Given the description of an element on the screen output the (x, y) to click on. 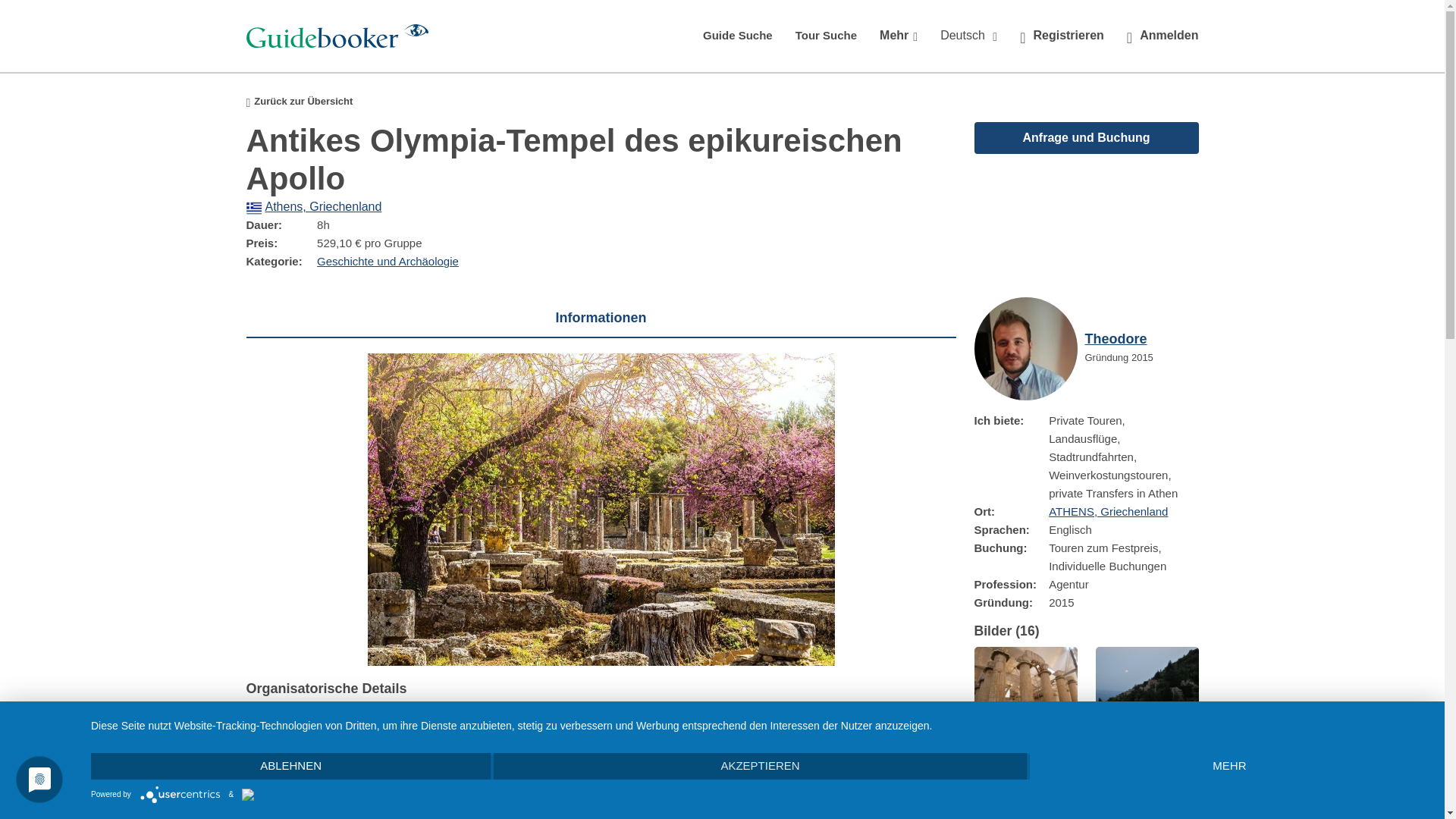
Anfrage und Buchung (1086, 137)
Deutsch (968, 35)
Informationen (600, 317)
Alle Touren in  Athens (313, 205)
Guidebooker (337, 35)
Tour Suche (825, 35)
Mehr (897, 35)
Tour Suche (825, 35)
Guide Suche (737, 35)
Registrieren (1062, 35)
